Given the description of an element on the screen output the (x, y) to click on. 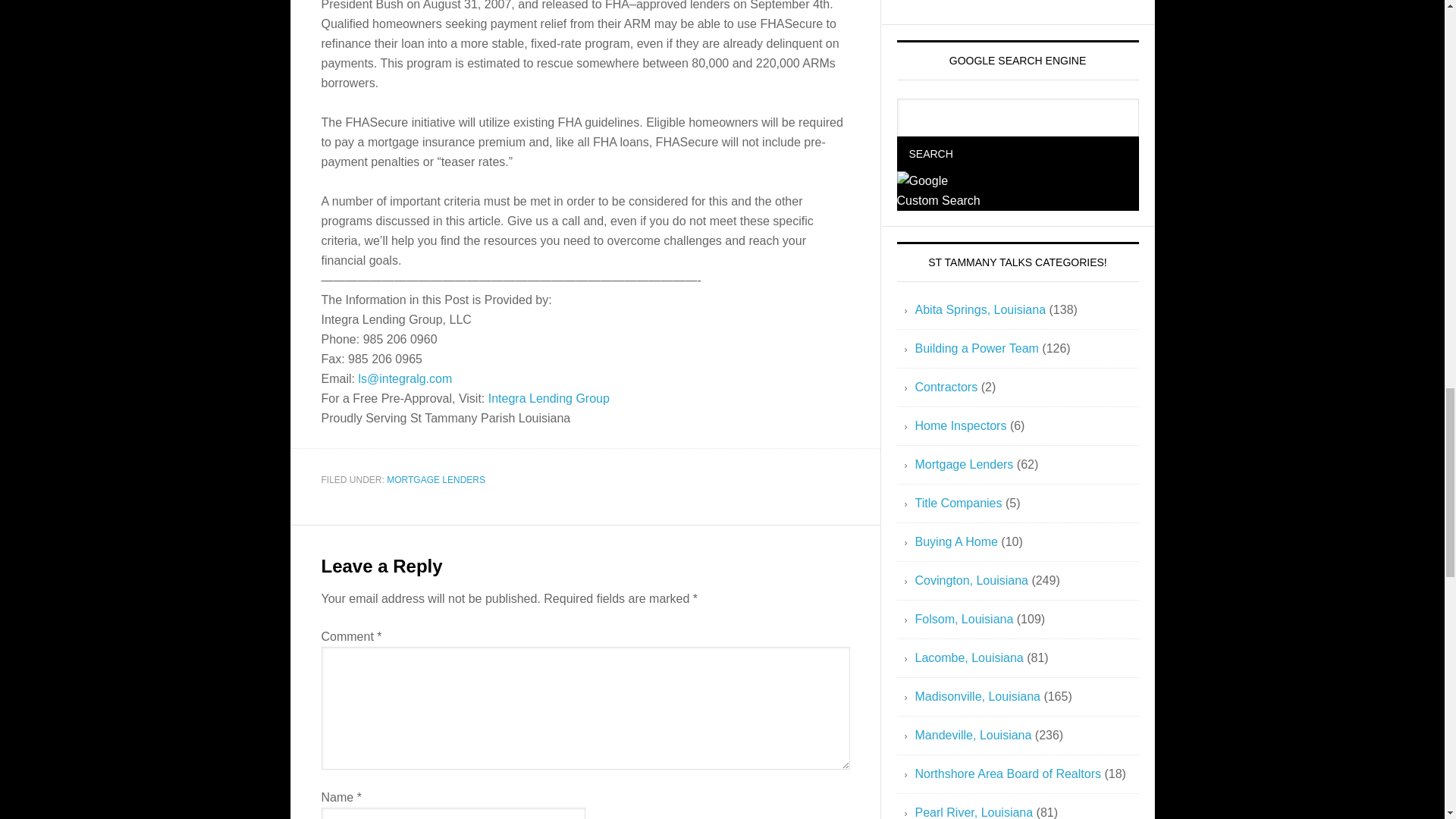
Covington, Louisiana (970, 580)
Building a Power Team (976, 348)
Title Companies (957, 502)
Home Inspectors (960, 425)
Contractors (945, 386)
Lacombe, Louisiana (968, 657)
Mortgage Lenders (963, 463)
Integra Lending Group (548, 398)
Buying A Home (955, 541)
MORTGAGE LENDERS (435, 480)
